Given the description of an element on the screen output the (x, y) to click on. 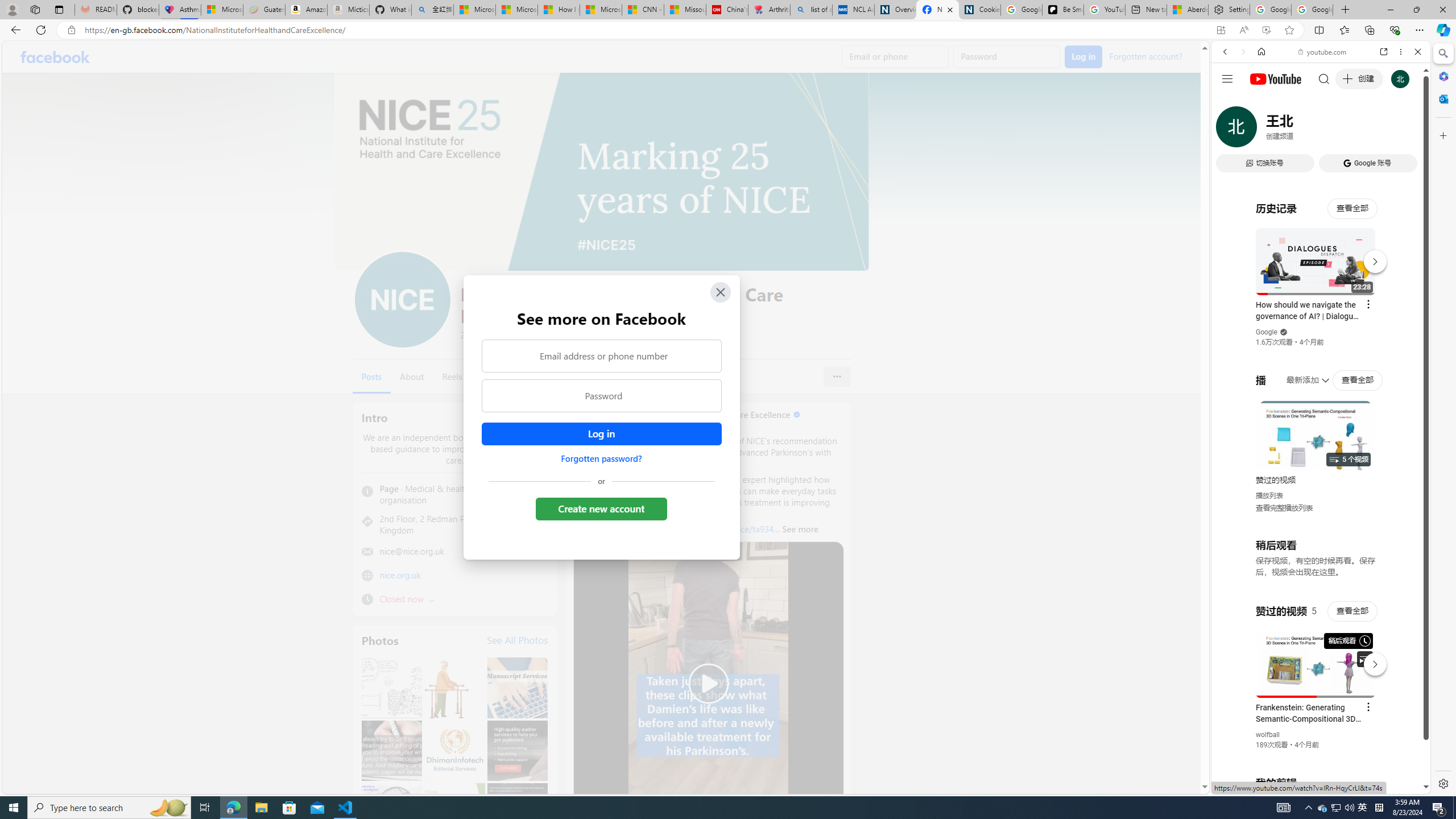
Be Smart | creating Science videos | Patreon (1062, 9)
Class: dict_pnIcon rms_img (1312, 784)
YouTube - YouTube (1315, 560)
Search videos from youtube.com (1299, 373)
SEARCH TOOLS (1350, 130)
